Given the description of an element on the screen output the (x, y) to click on. 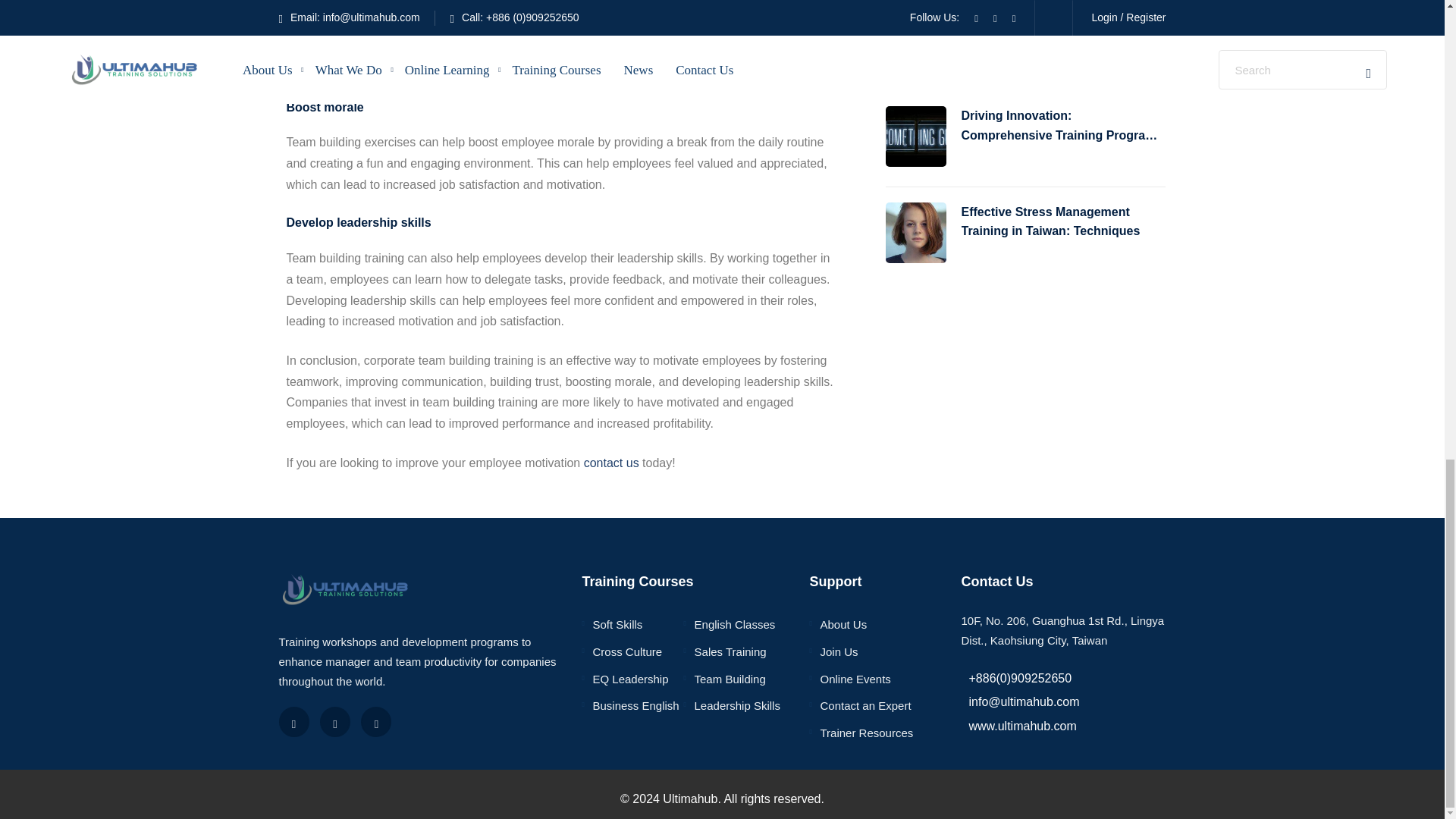
Linkedin (376, 721)
Twitter (335, 721)
Facebook (293, 721)
